Given the description of an element on the screen output the (x, y) to click on. 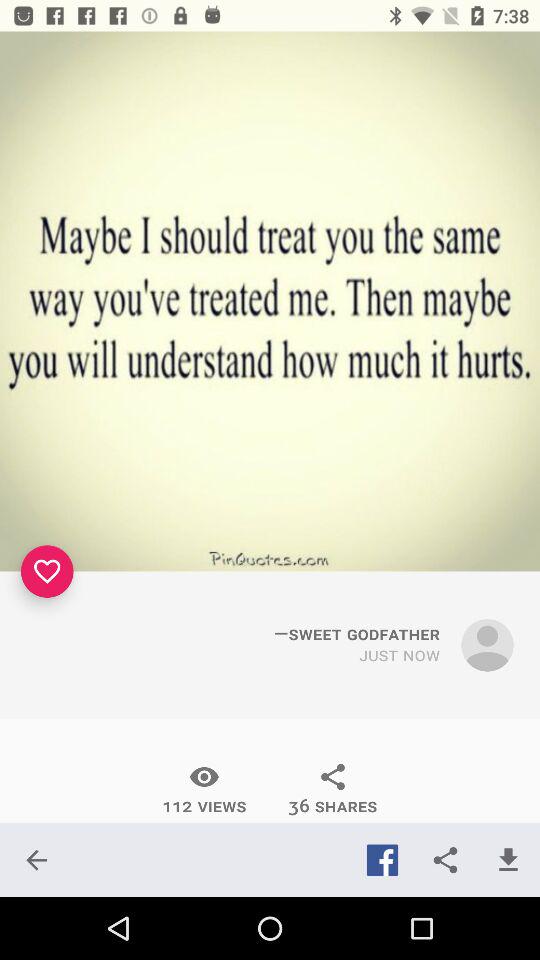
press item above the 36 shares item (399, 655)
